Given the description of an element on the screen output the (x, y) to click on. 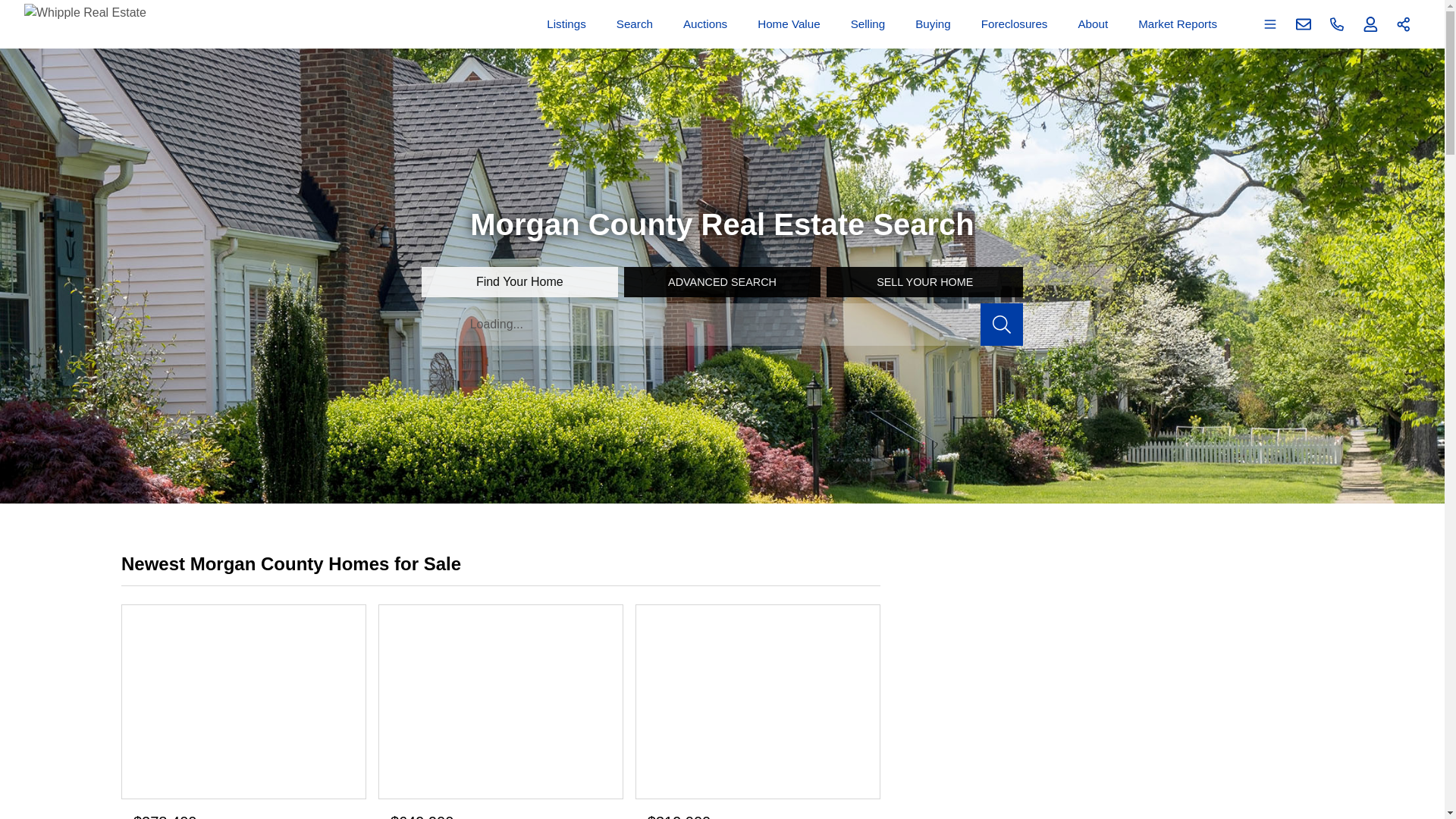
Home Value (788, 24)
Search (634, 24)
Foreclosures (1014, 24)
Market Reports (1177, 24)
Share (1404, 23)
Whipple Real Estate (85, 24)
Phone number (1337, 23)
Sign up or Sign in (1370, 23)
Selling (868, 24)
About (1092, 24)
Auctions (705, 24)
valuation widget (1144, 685)
Contact us (1303, 23)
Open main menu (1270, 23)
Buying (932, 24)
